Given the description of an element on the screen output the (x, y) to click on. 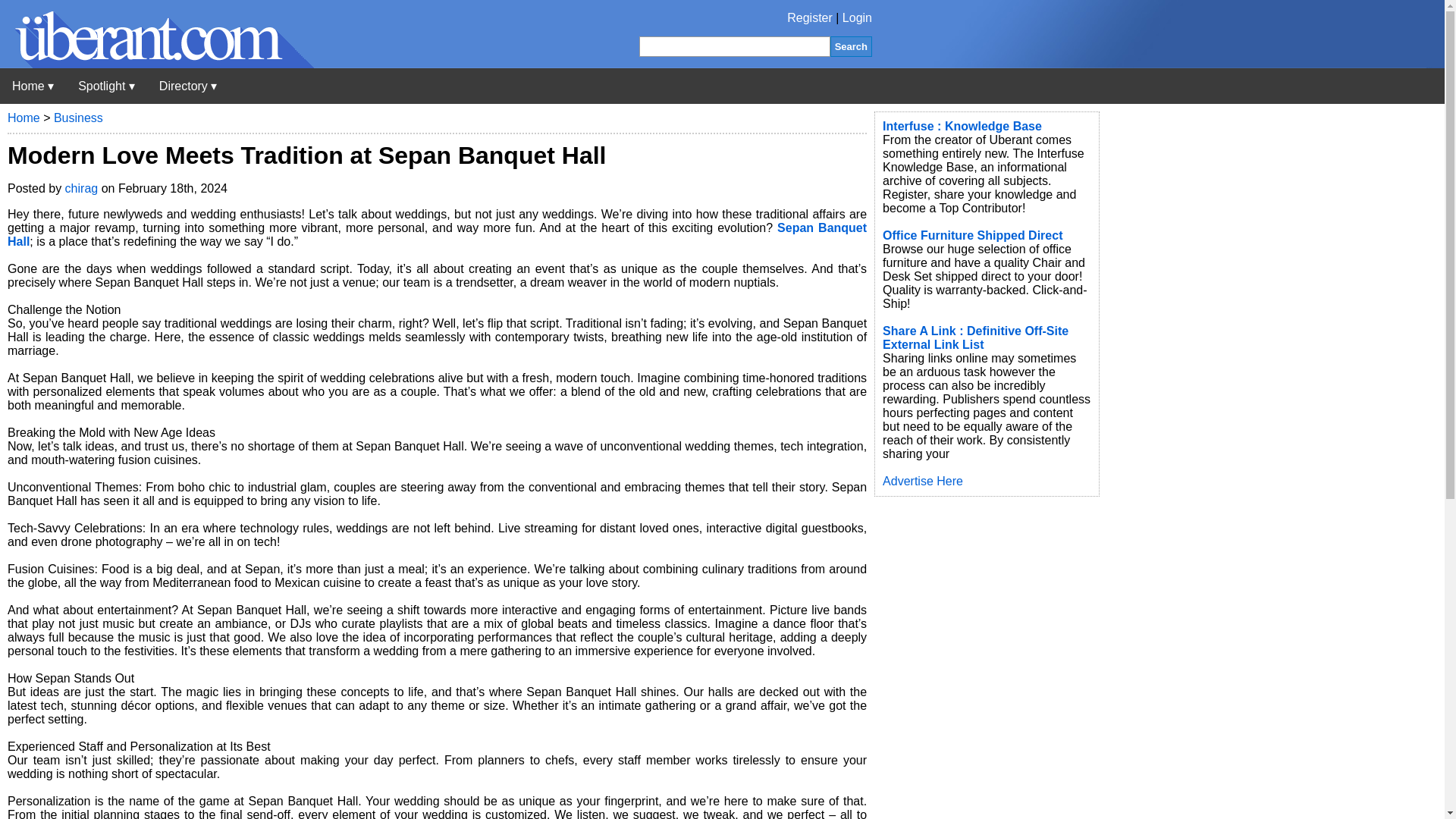
Uberant (157, 63)
Uberant (32, 85)
Login (857, 17)
Search (850, 46)
Search (850, 46)
Register (809, 17)
